Given the description of an element on the screen output the (x, y) to click on. 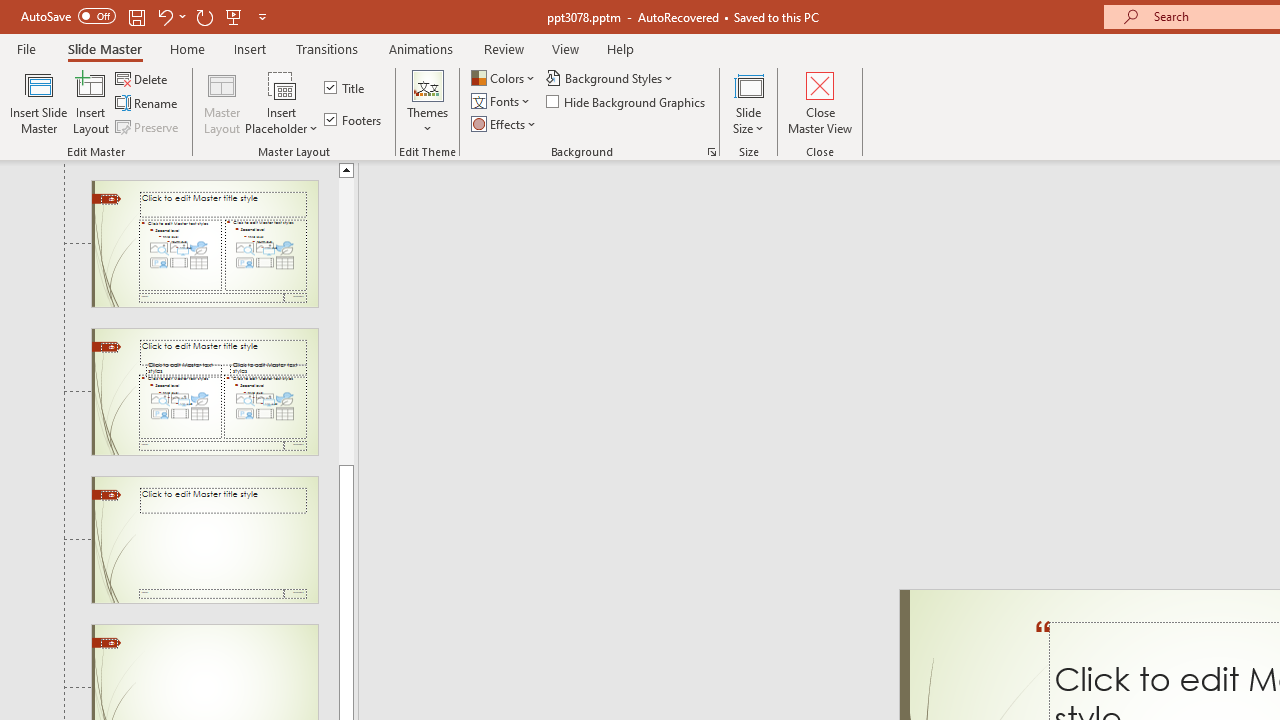
Delete (143, 78)
Hide Background Graphics (626, 101)
Slide Title Only Layout: used by no slides (204, 539)
Insert Placeholder (282, 102)
Slide Comparison Layout: used by no slides (204, 392)
Line up (345, 169)
Insert Layout (91, 102)
TextBox 13 (1043, 647)
Footers (354, 119)
Page up (345, 320)
